Given the description of an element on the screen output the (x, y) to click on. 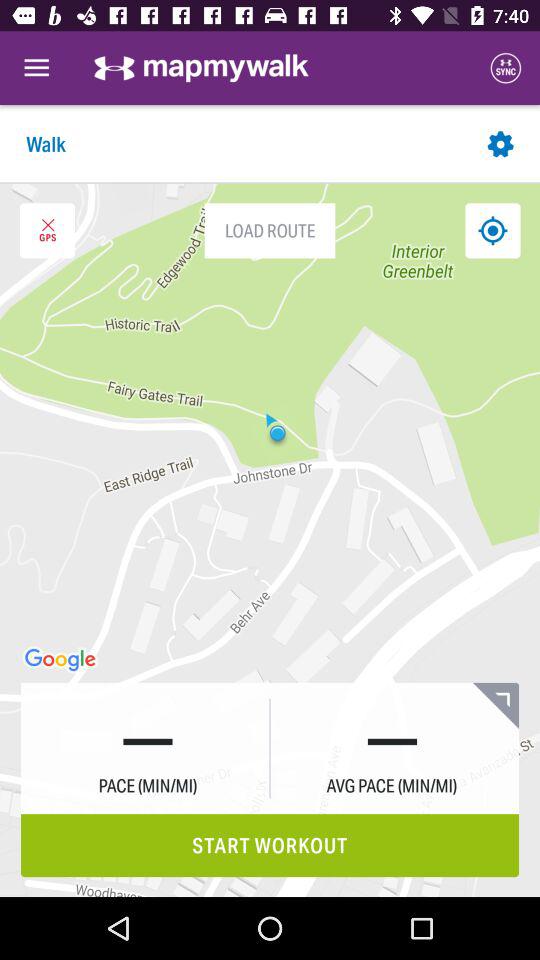
turn off the icon above start workout icon (495, 705)
